Given the description of an element on the screen output the (x, y) to click on. 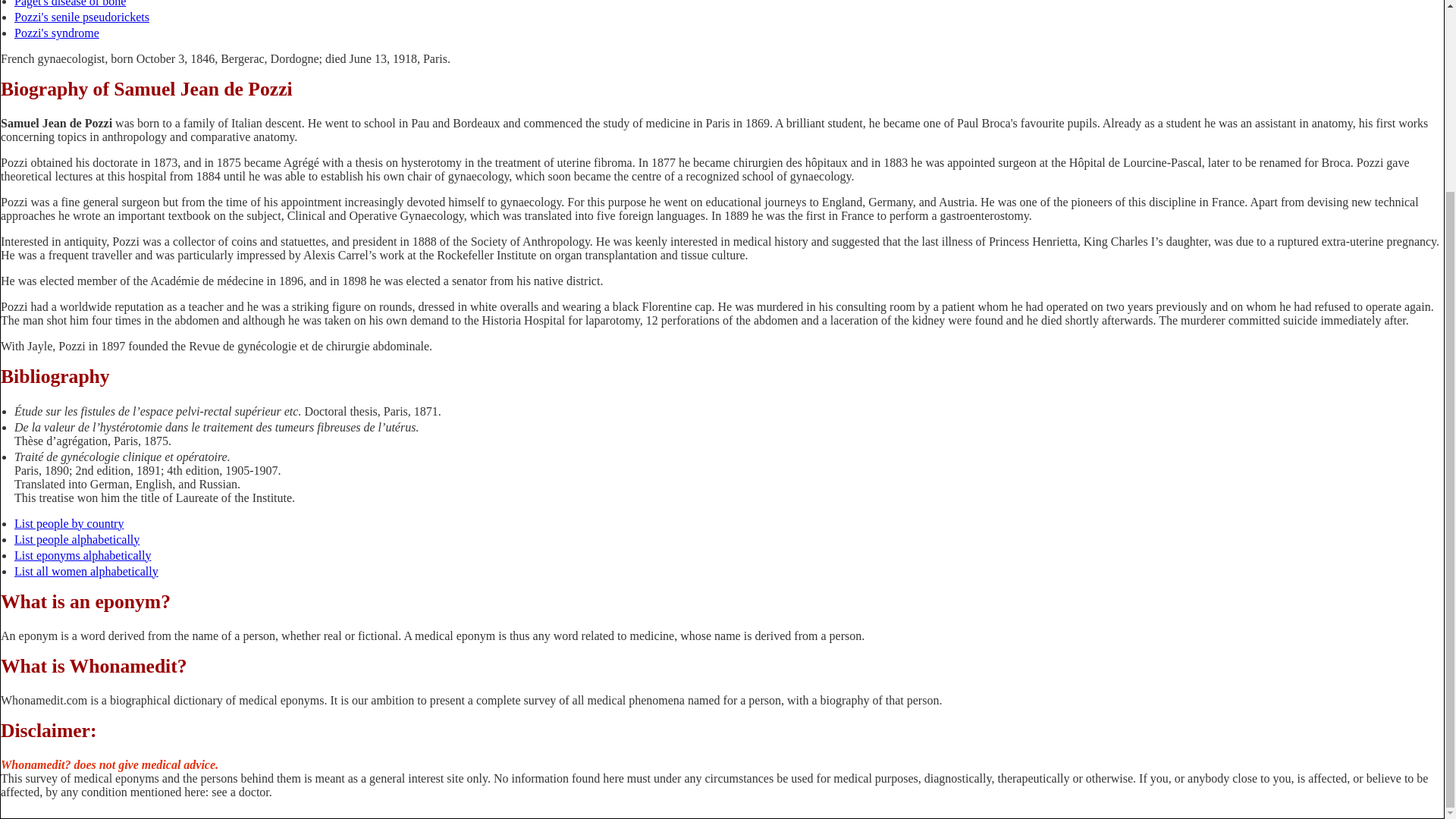
List people alphabetically (76, 539)
Paget's disease of bone (69, 3)
List all women alphabetically (86, 571)
Pozzi's senile pseudorickets (81, 16)
List people by country (68, 522)
List eponyms alphabetically (82, 554)
Pozzi's syndrome (56, 32)
